Given the description of an element on the screen output the (x, y) to click on. 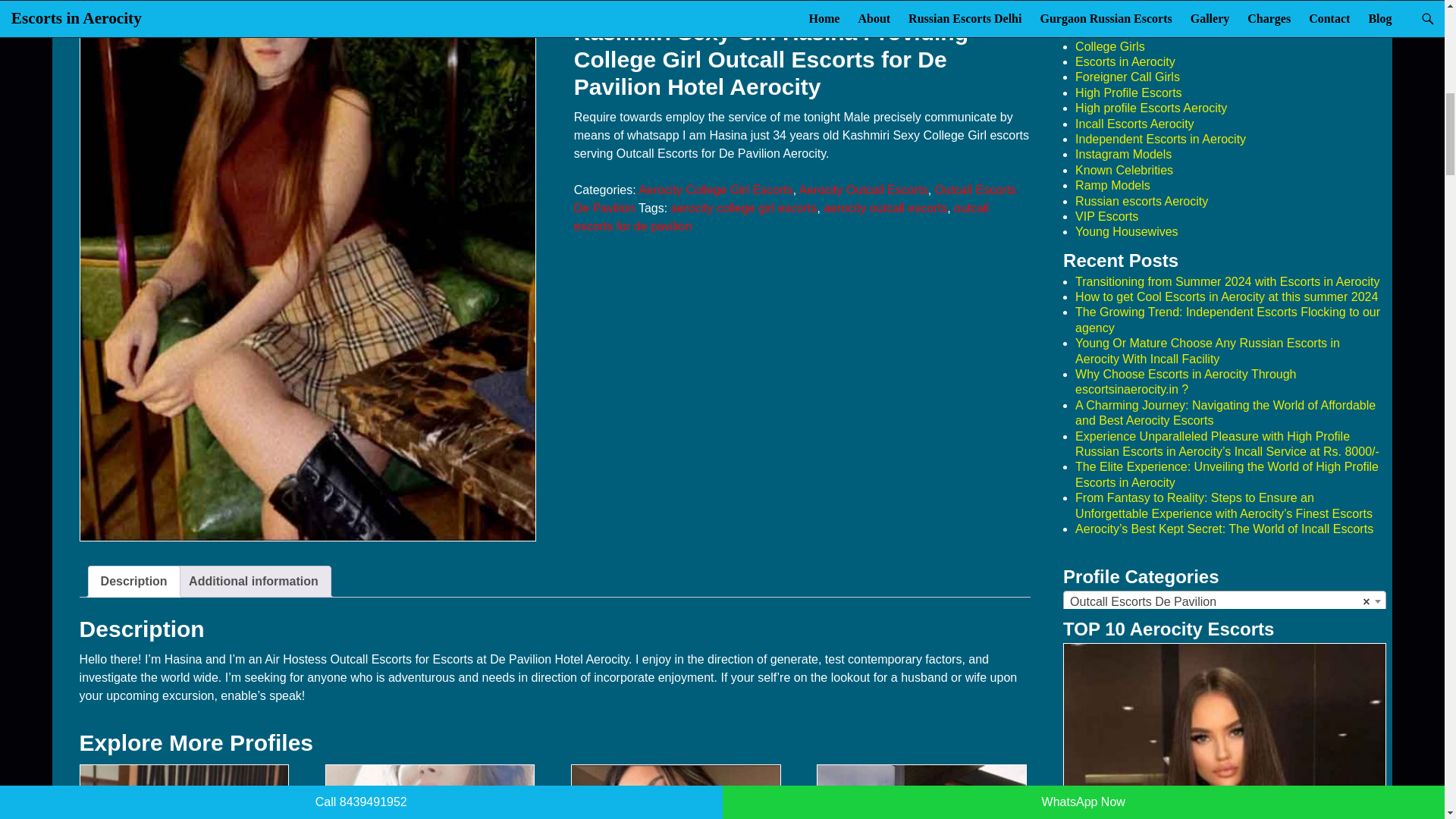
Outcall Escorts De Pavilion (794, 198)
outcall escorts for de pavilion (781, 216)
Aerocity College Girl Escorts (716, 189)
Additional information (253, 581)
aerocity college girl escorts (743, 207)
Aerocity Outcall Escorts (863, 189)
Outcall Escorts De Pavilion (1225, 601)
Description (133, 581)
aerocity outcall escorts (885, 207)
